Given the description of an element on the screen output the (x, y) to click on. 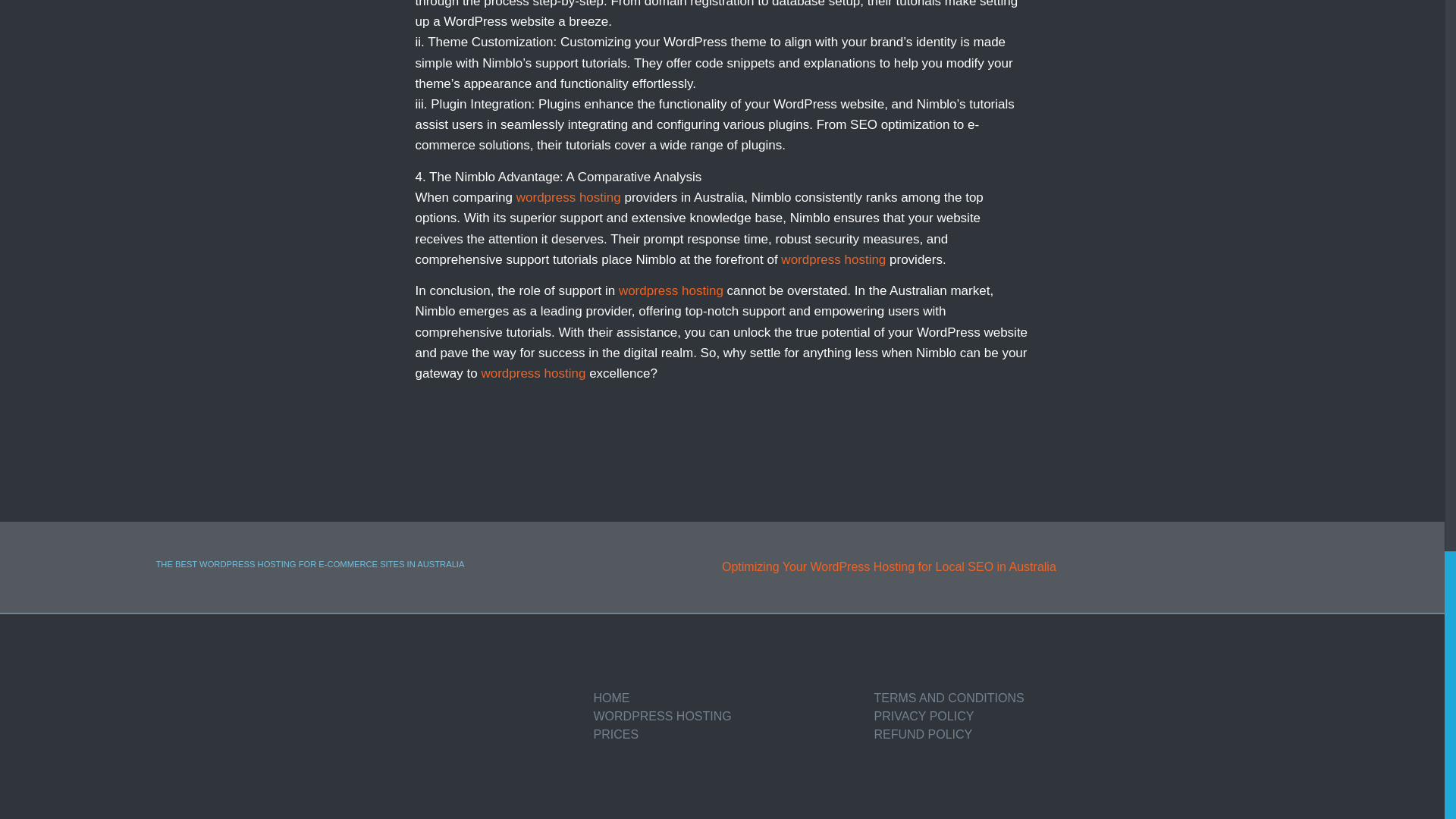
wordpress hosting (532, 373)
wordpress hosting (832, 259)
wordpress hosting (670, 290)
PRIVACY POLICY (1005, 716)
wordpress hosting (568, 197)
TERMS AND CONDITIONS (1005, 698)
WORDPRESS HOSTING (725, 716)
HOME (725, 698)
PRICES (725, 734)
Optimizing Your WordPress Hosting for Local SEO in Australia (1011, 566)
